Given the description of an element on the screen output the (x, y) to click on. 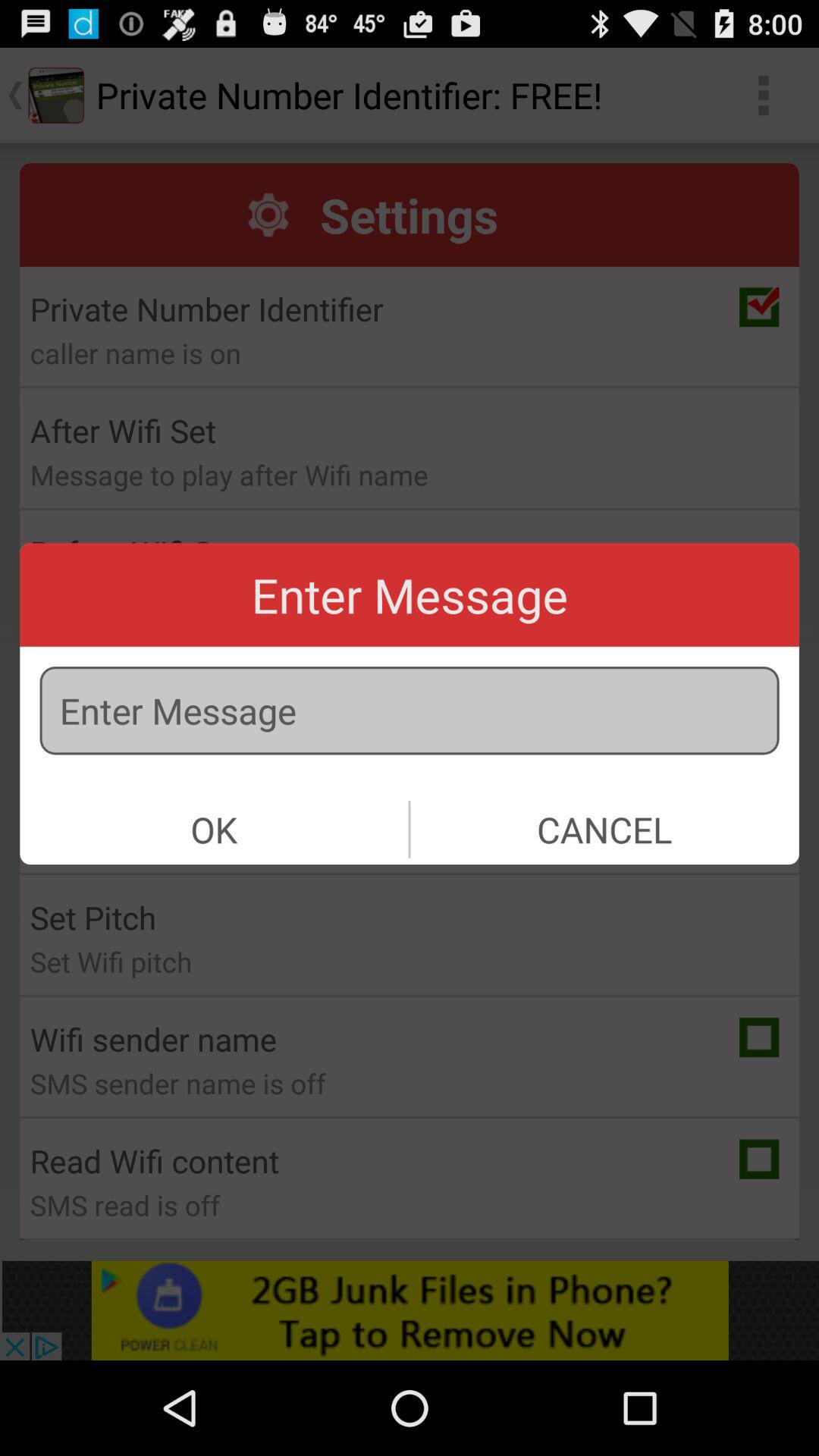
tap the button on the left (213, 829)
